Given the description of an element on the screen output the (x, y) to click on. 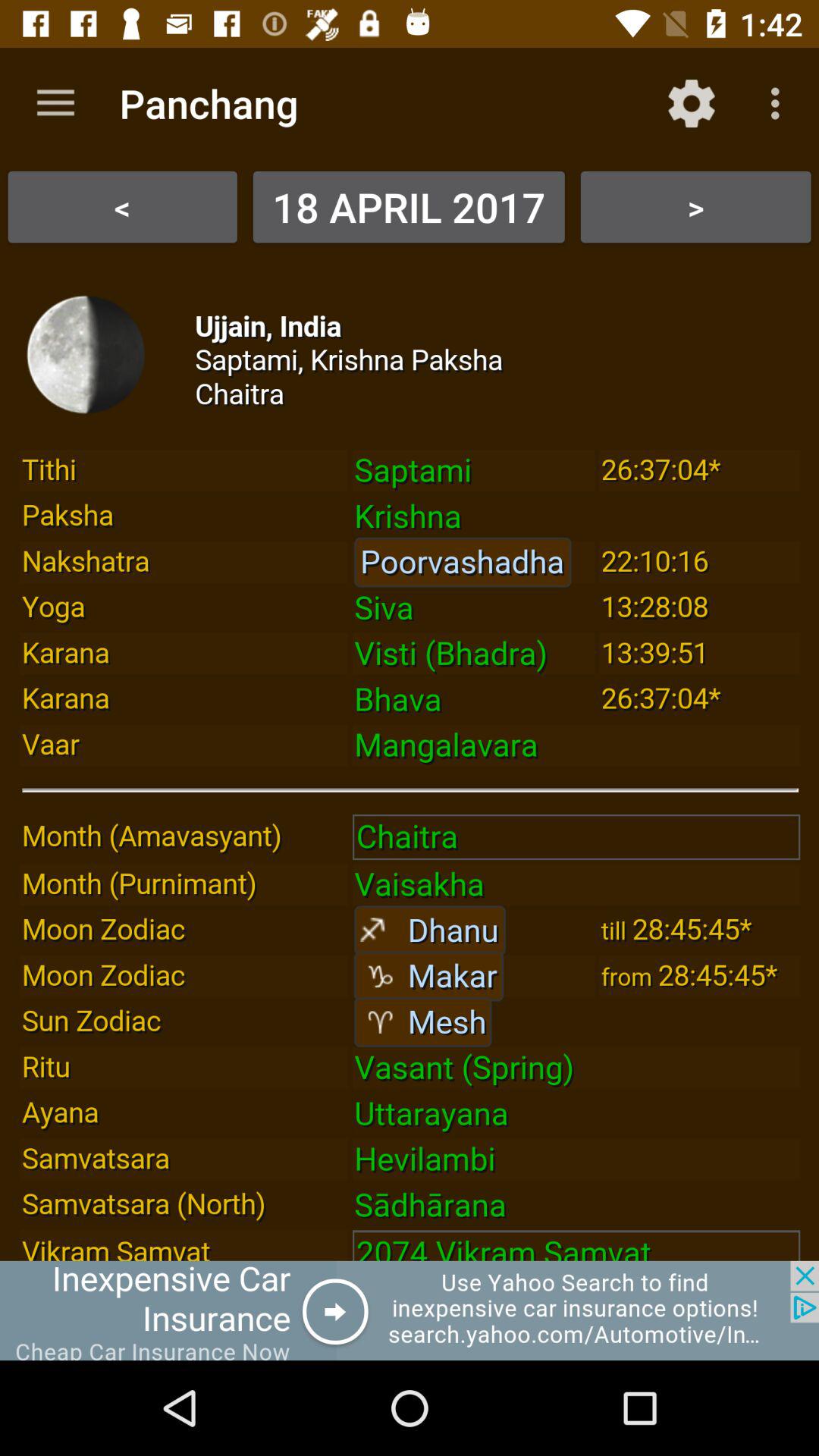
shows details page (409, 757)
